Given the description of an element on the screen output the (x, y) to click on. 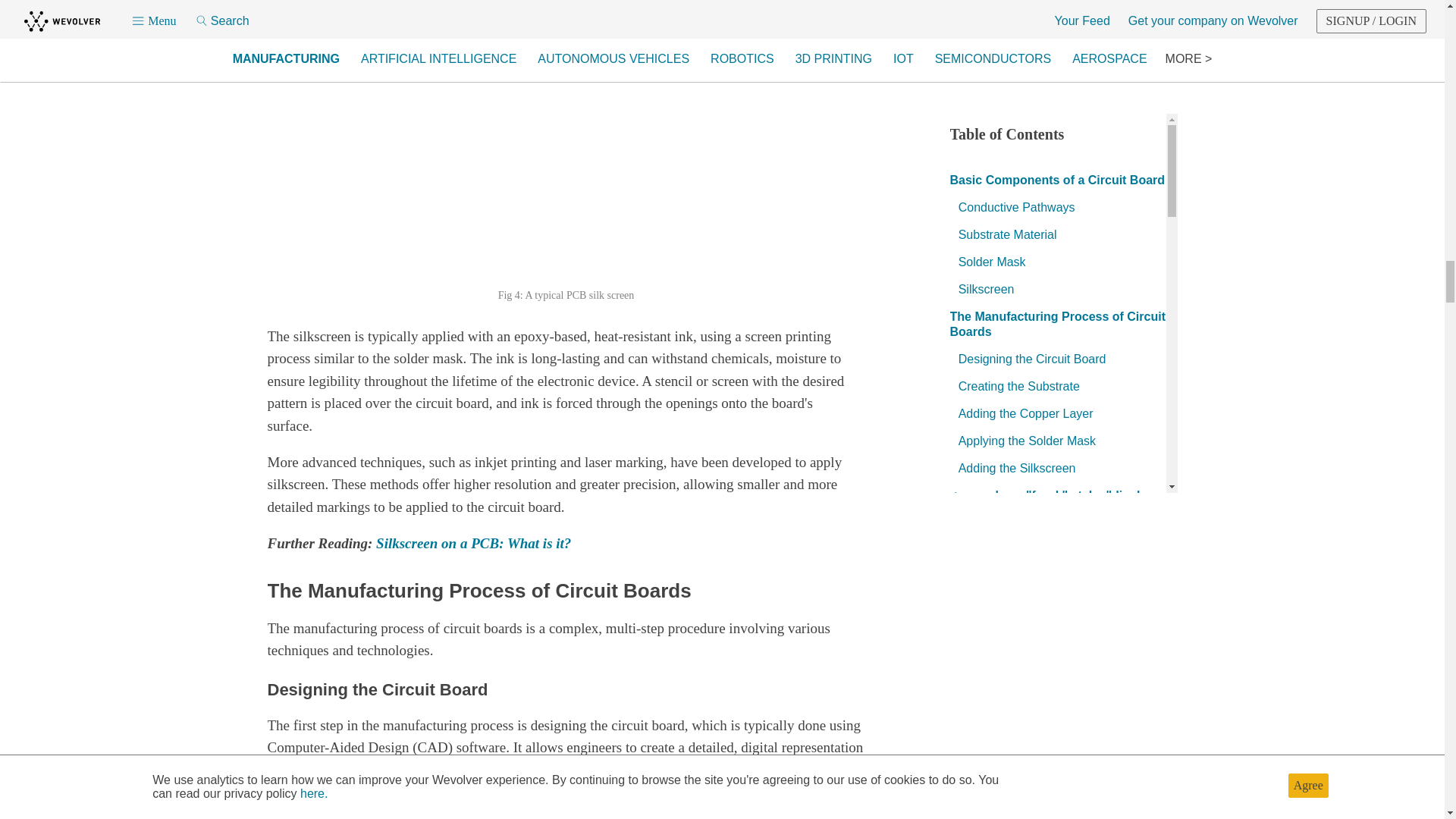
design (312, 806)
Silkscreen on a PCB: What is it? (472, 543)
layout (425, 806)
